Given the description of an element on the screen output the (x, y) to click on. 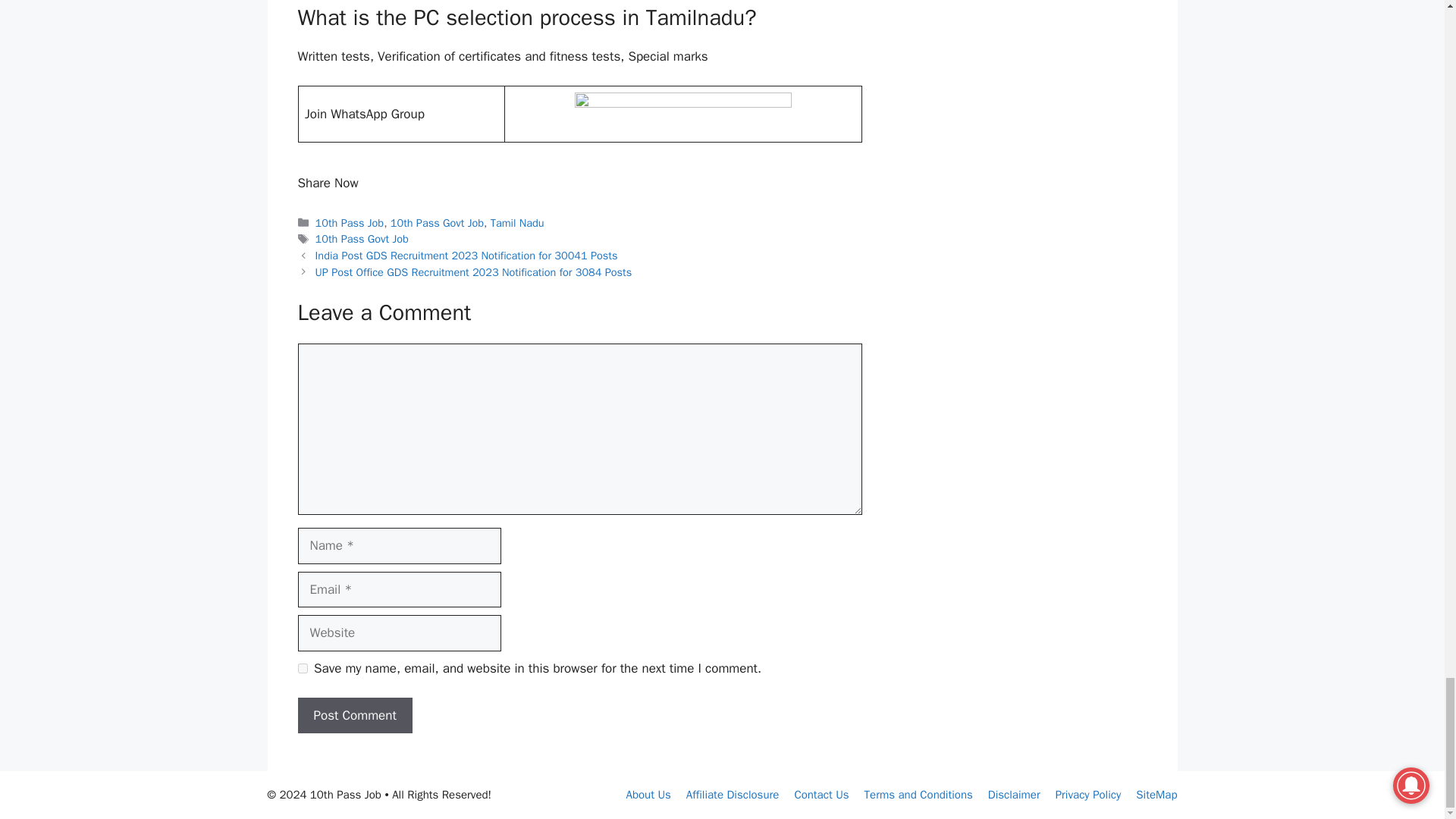
yes (302, 668)
Tamil Nadu (517, 223)
10th Pass Job (349, 223)
10th Pass Govt Job (436, 223)
Post Comment (354, 715)
